Given the description of an element on the screen output the (x, y) to click on. 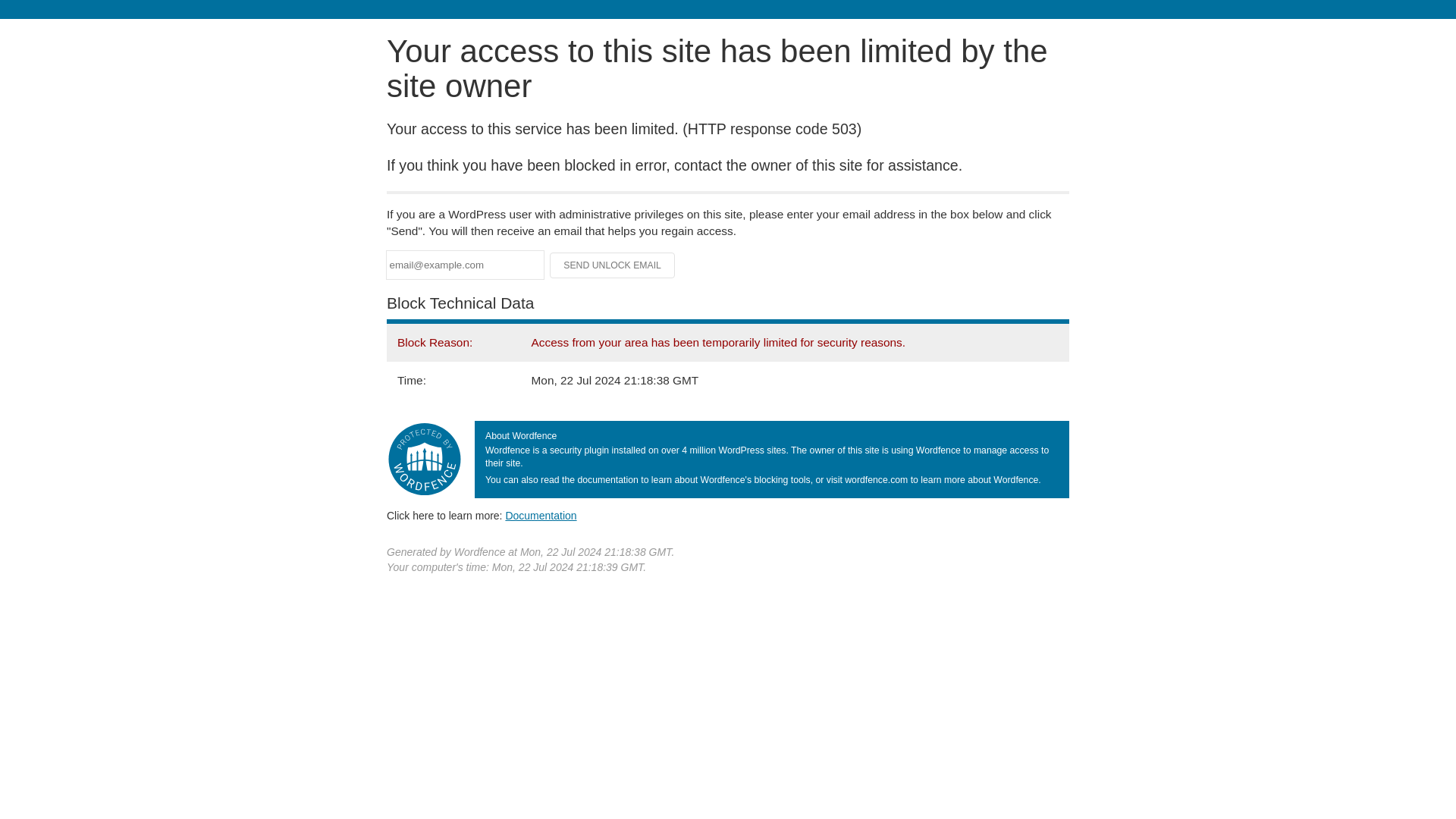
Send Unlock Email (612, 265)
Send Unlock Email (612, 265)
Documentation (540, 515)
